Given the description of an element on the screen output the (x, y) to click on. 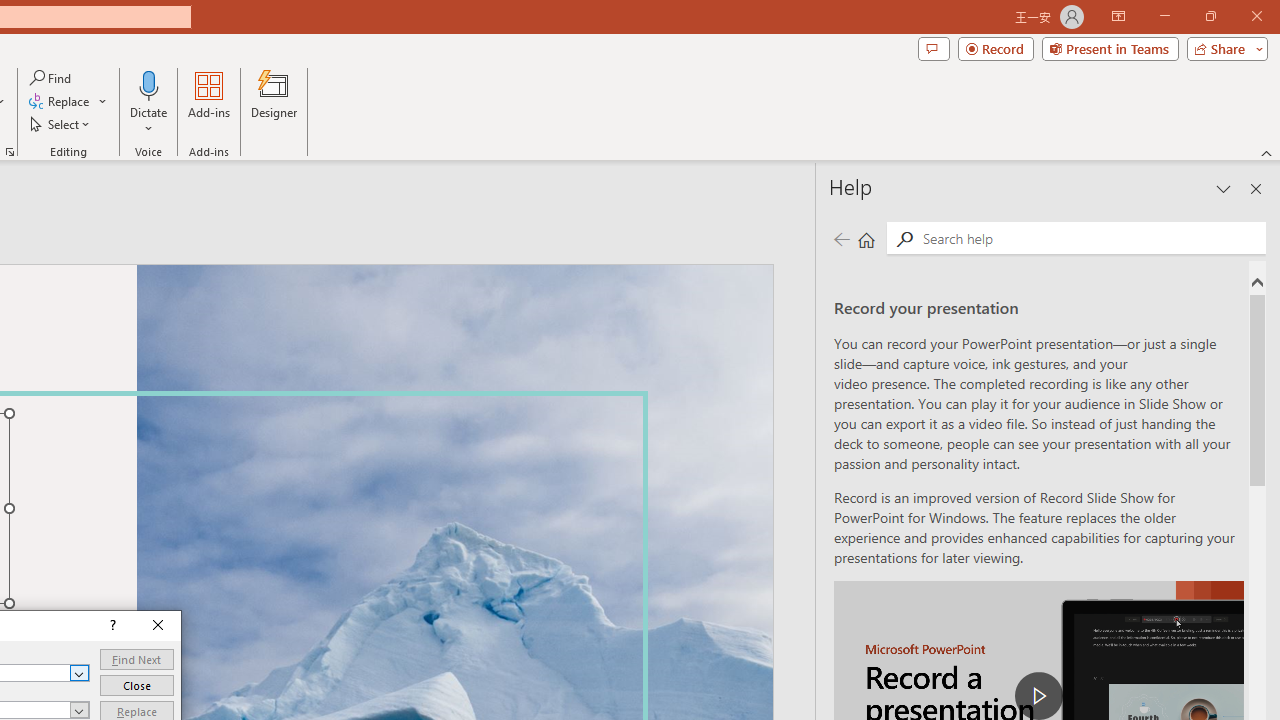
Select (61, 124)
Previous page (841, 238)
Context help (111, 625)
Find Next (136, 659)
play Record a Presentation (1038, 695)
